Given the description of an element on the screen output the (x, y) to click on. 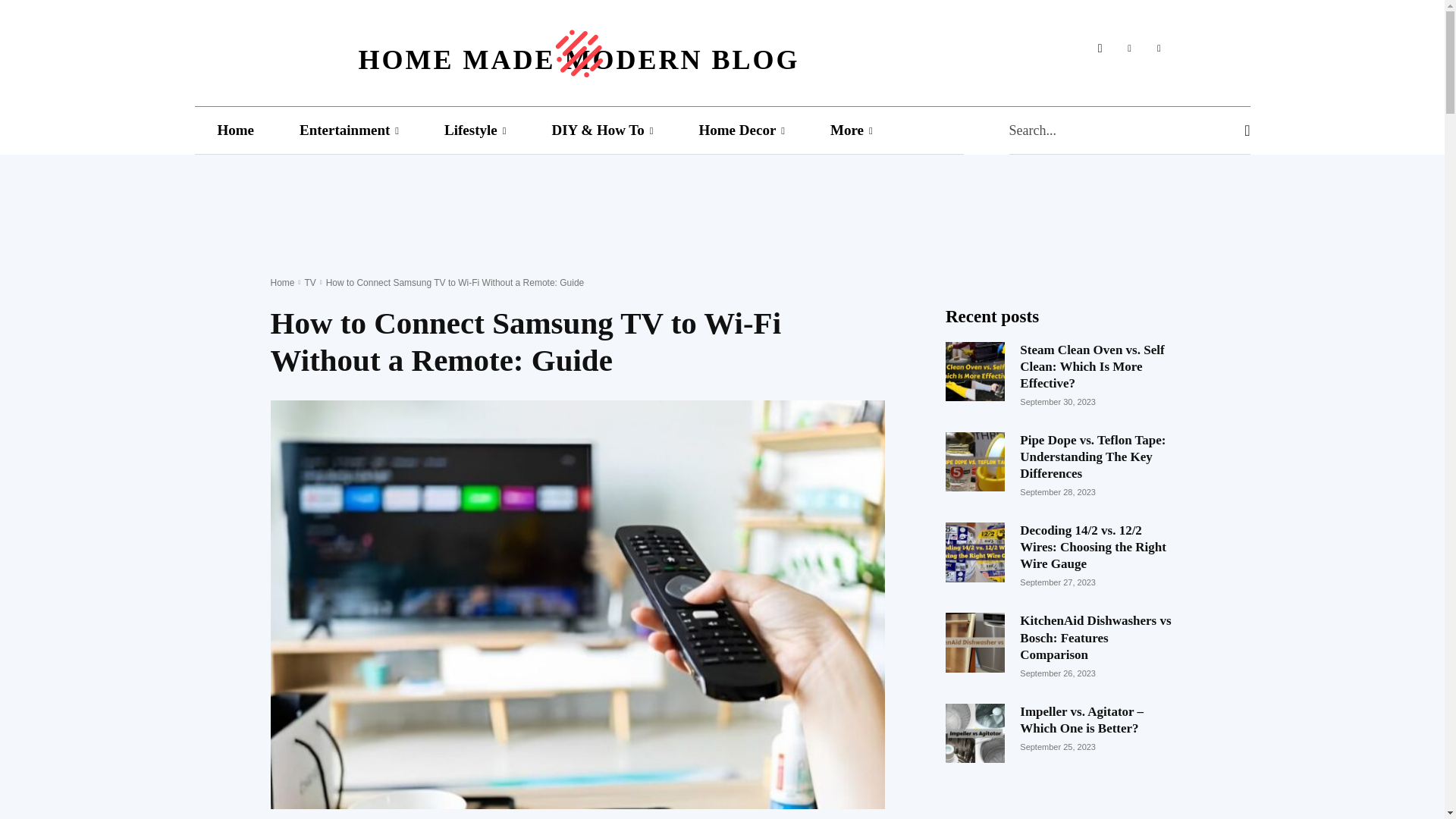
Pinterest (1129, 48)
Twitter (1159, 48)
HOME MADE MODERN BLOG (577, 49)
Facebook (1099, 48)
View all posts in TV (309, 282)
Home (234, 129)
Entertainment (349, 129)
Lifestyle (475, 129)
